Given the description of an element on the screen output the (x, y) to click on. 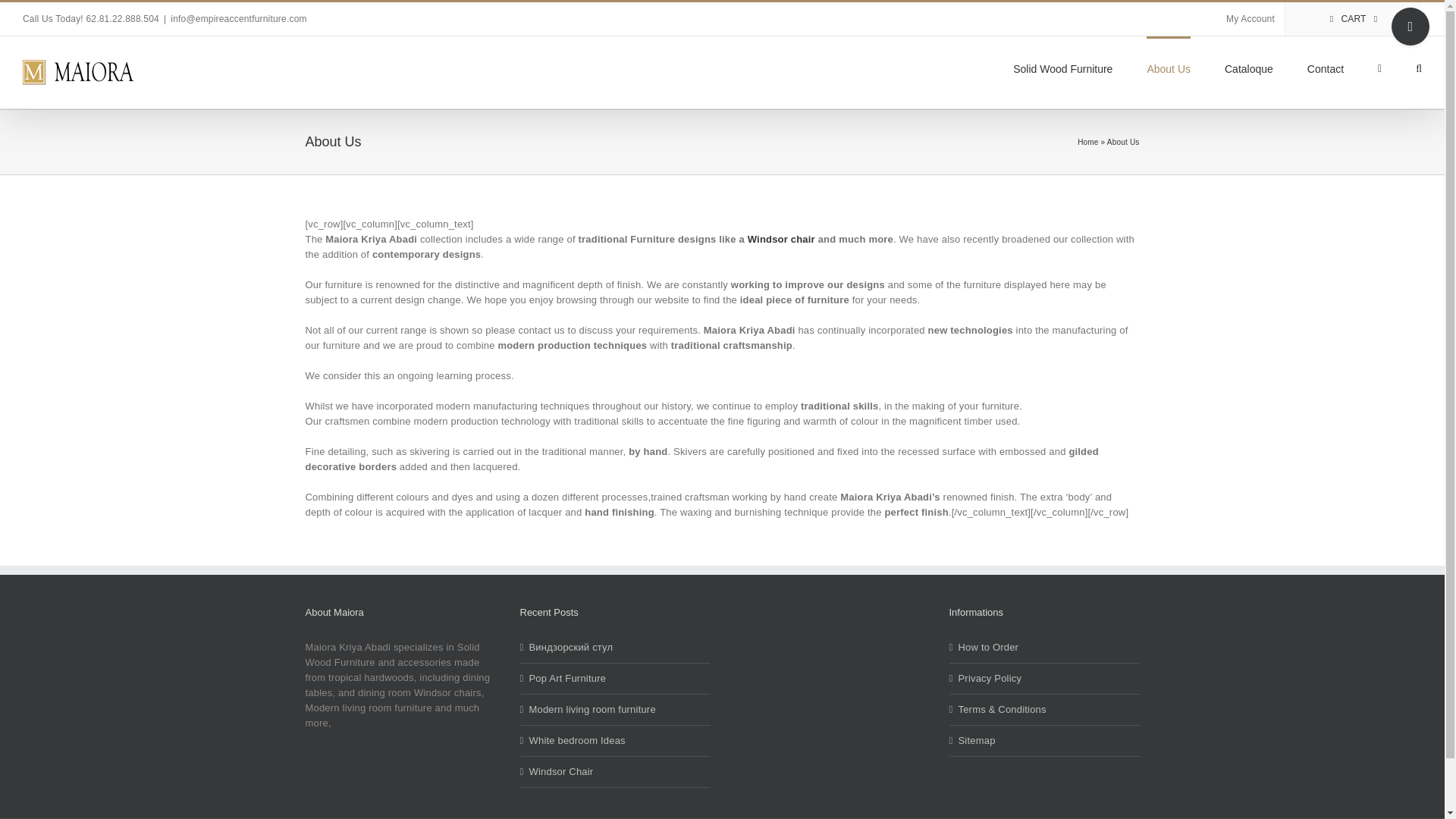
Solid Wood Furniture (1062, 67)
My Account (1249, 19)
Log In (1309, 146)
Windsor chair (781, 238)
Home (1087, 142)
CART (1353, 19)
Solid Wood Furniture (1062, 67)
